Given the description of an element on the screen output the (x, y) to click on. 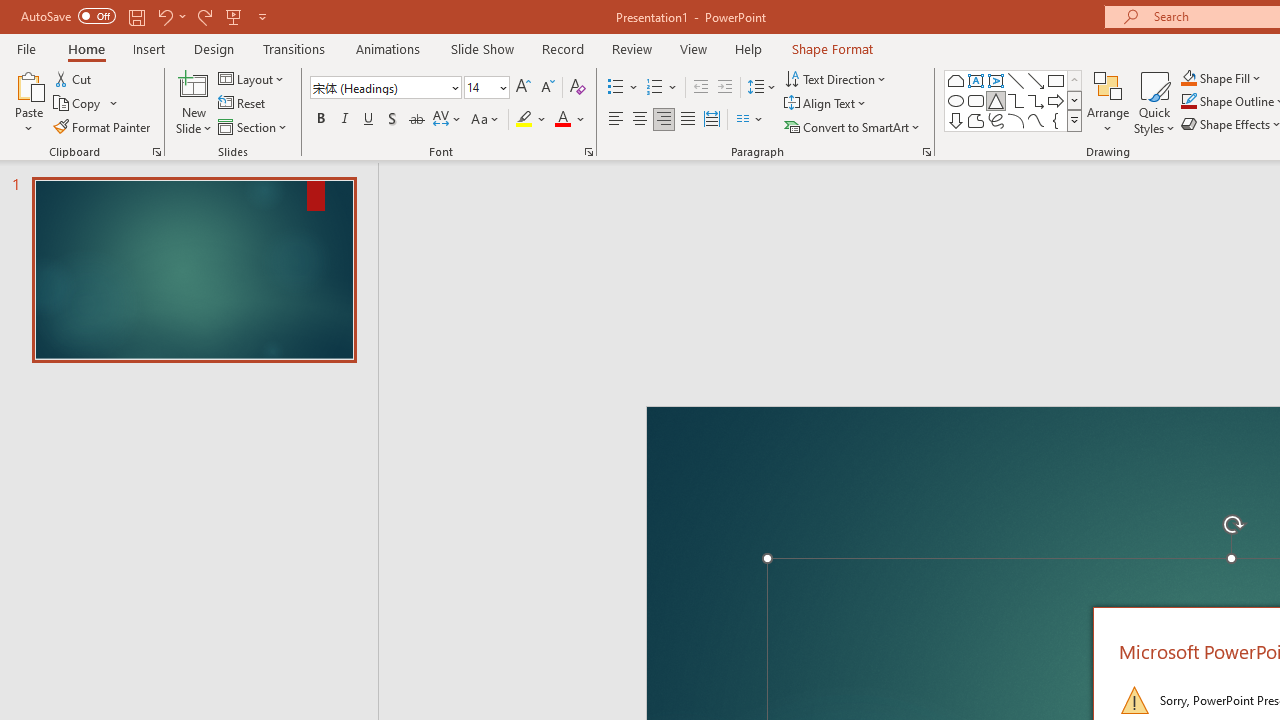
Rectangle: Top Corners Snipped (955, 80)
